Given the description of an element on the screen output the (x, y) to click on. 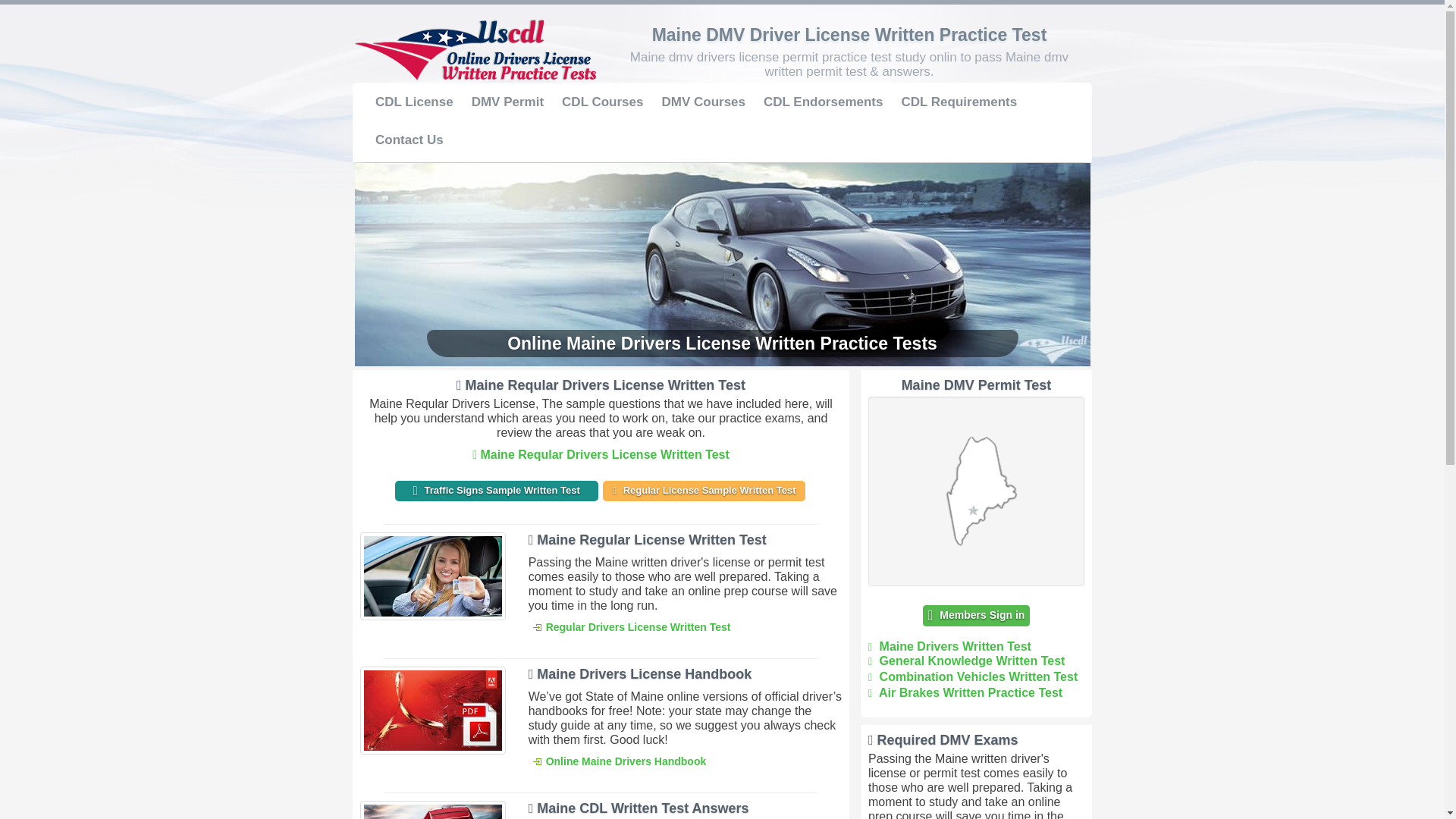
Maine Reqular Drivers License Written Test (600, 454)
Members Sign in (976, 615)
CDL Courses (602, 102)
Traffic Signs Sample Written Test (495, 490)
Online Maine Drivers Handbook (618, 761)
Maine Drivers Written Test (948, 645)
CDL Requirements (958, 102)
CDL License (414, 102)
Regular License Sample Written Test (703, 490)
General Knowledge Written Test (965, 660)
